Given the description of an element on the screen output the (x, y) to click on. 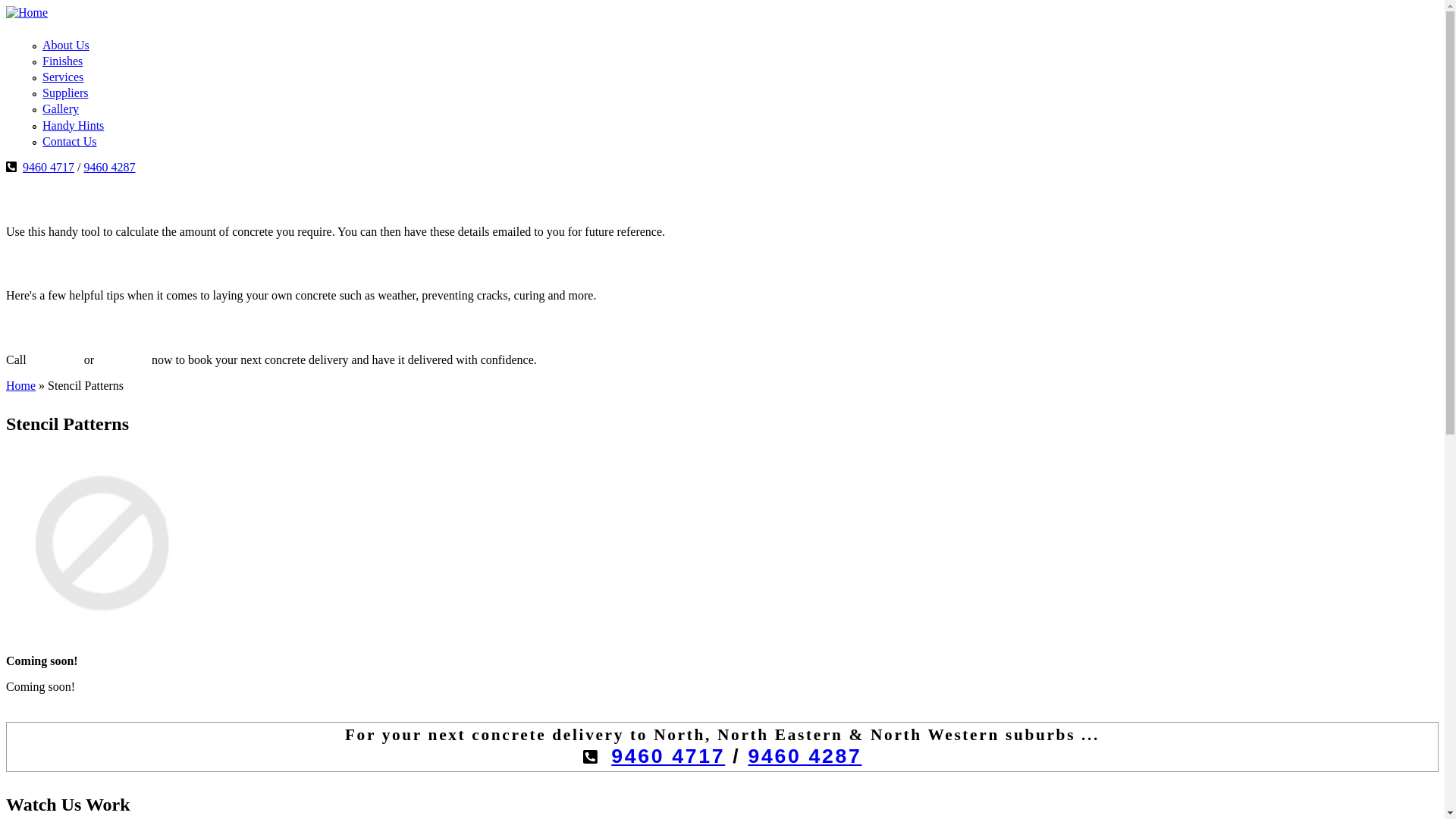
About Us Element type: text (65, 44)
Contact Us Element type: text (69, 140)
Handy Hints Element type: text (72, 125)
  Concrete Calculator Element type: text (97, 199)
  Element type: text (605, 294)
  Element type: text (546, 359)
  Element type: text (674, 231)
9460 4287 Element type: text (108, 166)
Home Element type: hover (26, 12)
 We Are Ready! Element type: text (75, 327)
9460 4287 Element type: text (804, 755)
9460 4717 Element type: text (48, 166)
9460 4717 Element type: text (667, 755)
  DIY Concreting? Element type: text (88, 263)
Home Element type: text (20, 385)
Gallery Element type: text (60, 108)
9460 4717 Element type: text (55, 359)
9460 4287 Element type: text (122, 359)
Finishes Element type: text (62, 60)
Services Element type: text (62, 76)
Suppliers Element type: text (64, 92)
